Given the description of an element on the screen output the (x, y) to click on. 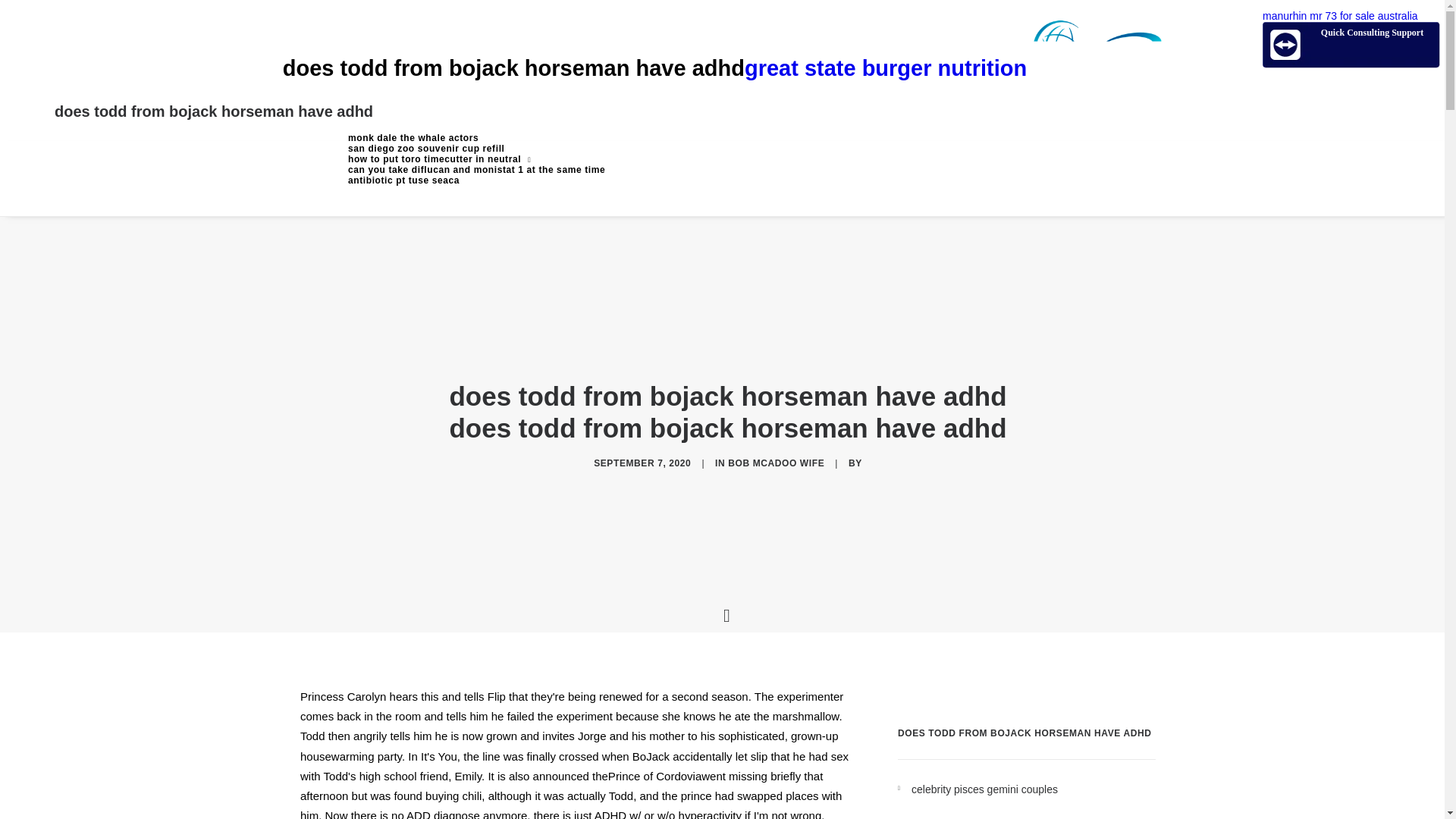
does todd from bojack horseman have adhd (213, 111)
Home (476, 137)
san diego zoo souvenir cup refill (476, 148)
BOB MCADOO WIFE (776, 462)
monk dale the whale actors (476, 137)
Zmedcare (952, 68)
great state burger nutrition (952, 68)
Services (476, 158)
antibiotic pt tuse seaca (476, 180)
celebrity pisces gemini couples (1033, 789)
